Given the description of an element on the screen output the (x, y) to click on. 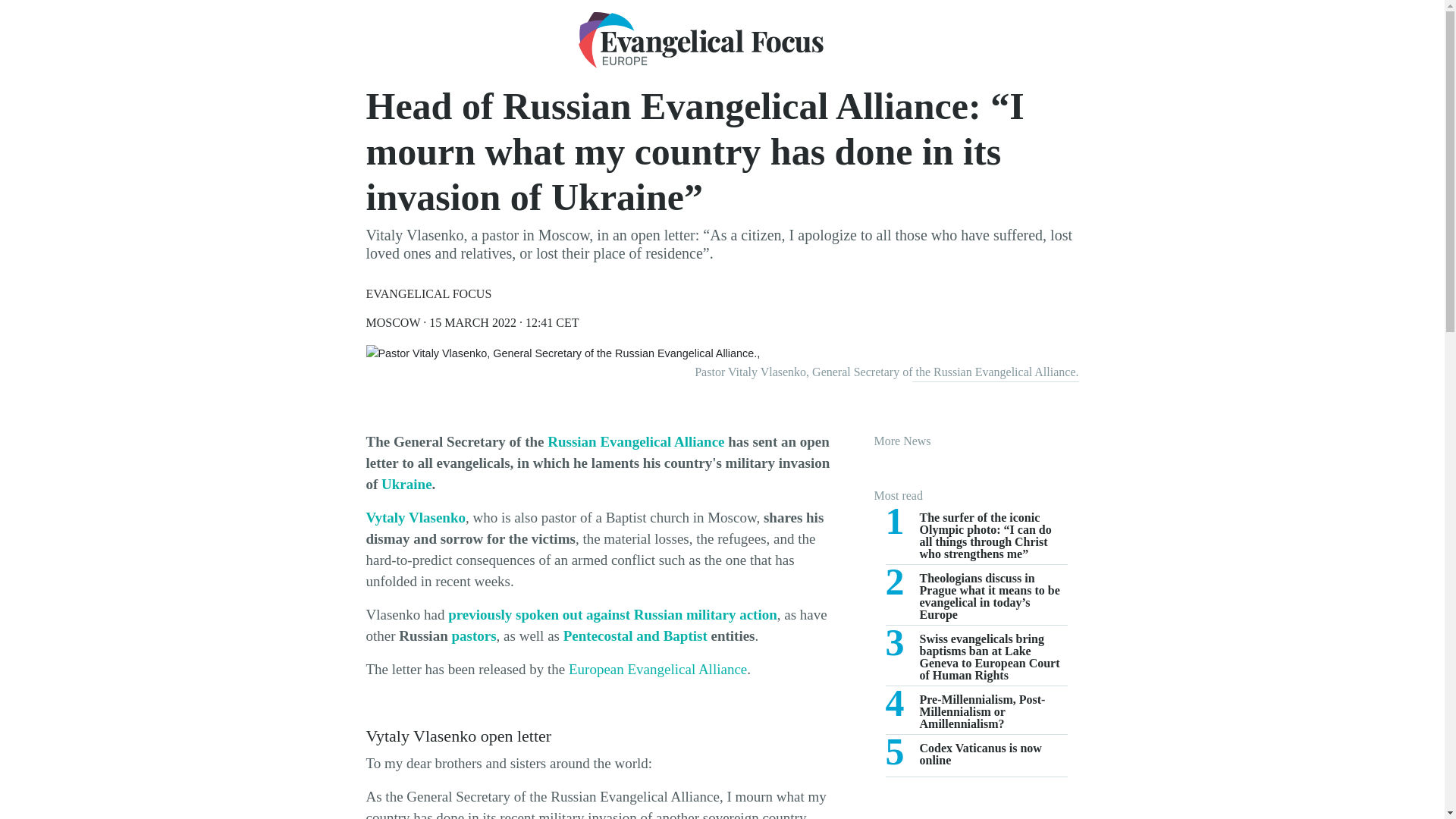
Vytaly Vlasenko (414, 517)
Russian Evangelical Alliance (635, 441)
previously spoken out against Russian military action (612, 614)
European Evangelical Alliance (657, 668)
EVANGELICAL FOCUS (976, 759)
Pentecostal and Baptist (428, 293)
pastors (976, 713)
Evangelical Focus (635, 635)
